Given the description of an element on the screen output the (x, y) to click on. 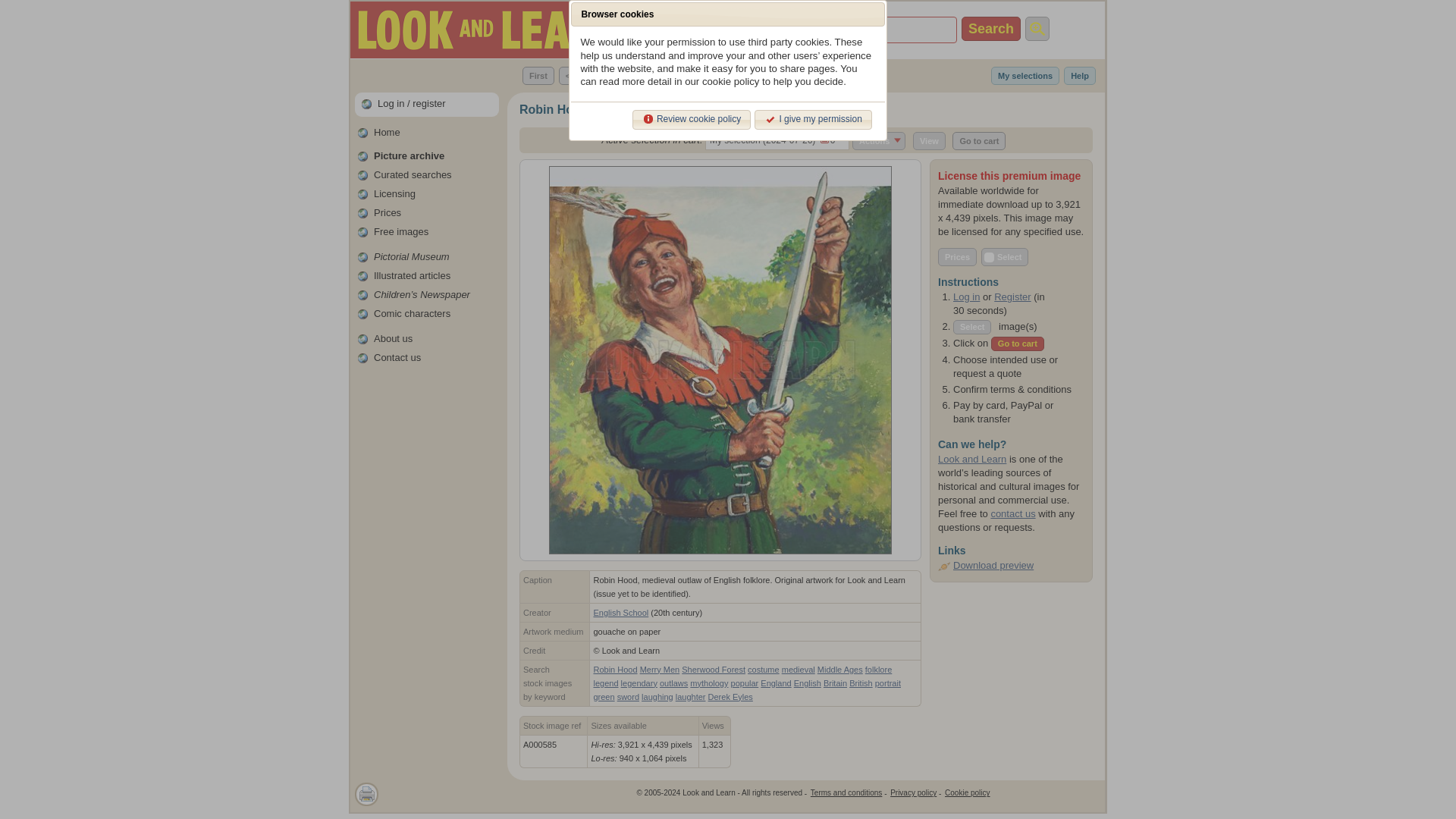
Add to active selection (1004, 257)
Prices (956, 257)
Comic characters (411, 313)
Home (387, 132)
Prices (387, 212)
Robin Hood (614, 669)
Picture archive (409, 155)
Free images (401, 231)
Britain (835, 682)
Sherwood Forest (713, 669)
English School (619, 612)
costume (763, 669)
My selections (1025, 75)
legendary (865, 29)
About us (393, 337)
